Given the description of an element on the screen output the (x, y) to click on. 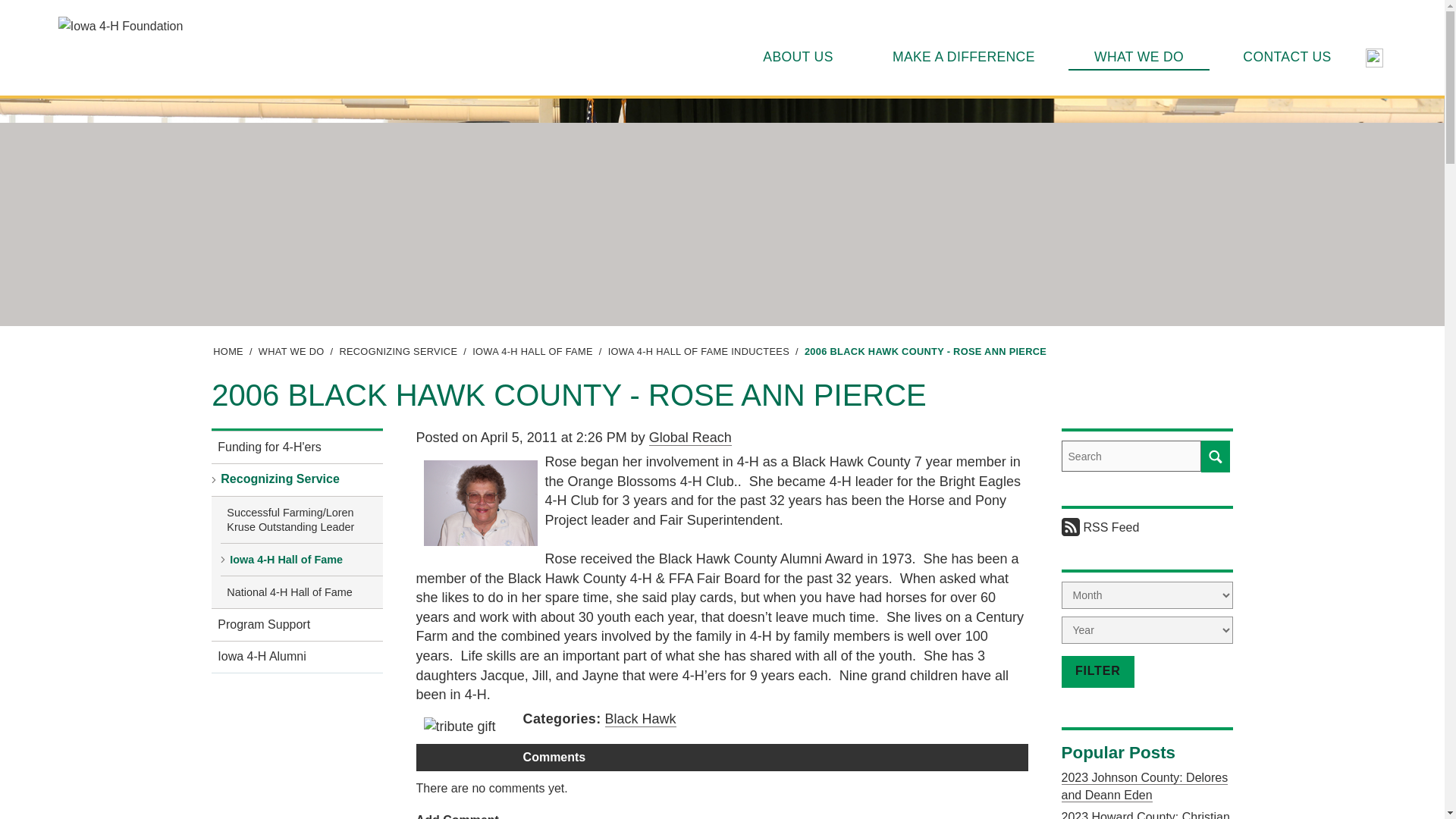
CONTACT US (1286, 56)
MAKE A DIFFERENCE (962, 56)
WHAT WE DO (1138, 56)
ABOUT US (798, 56)
